Given the description of an element on the screen output the (x, y) to click on. 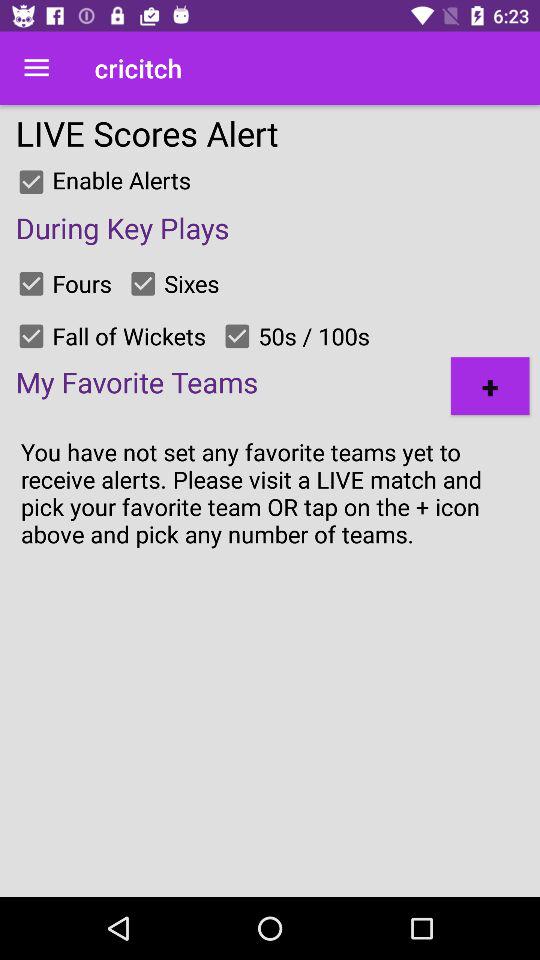
turn on icon above you have not (489, 386)
